Given the description of an element on the screen output the (x, y) to click on. 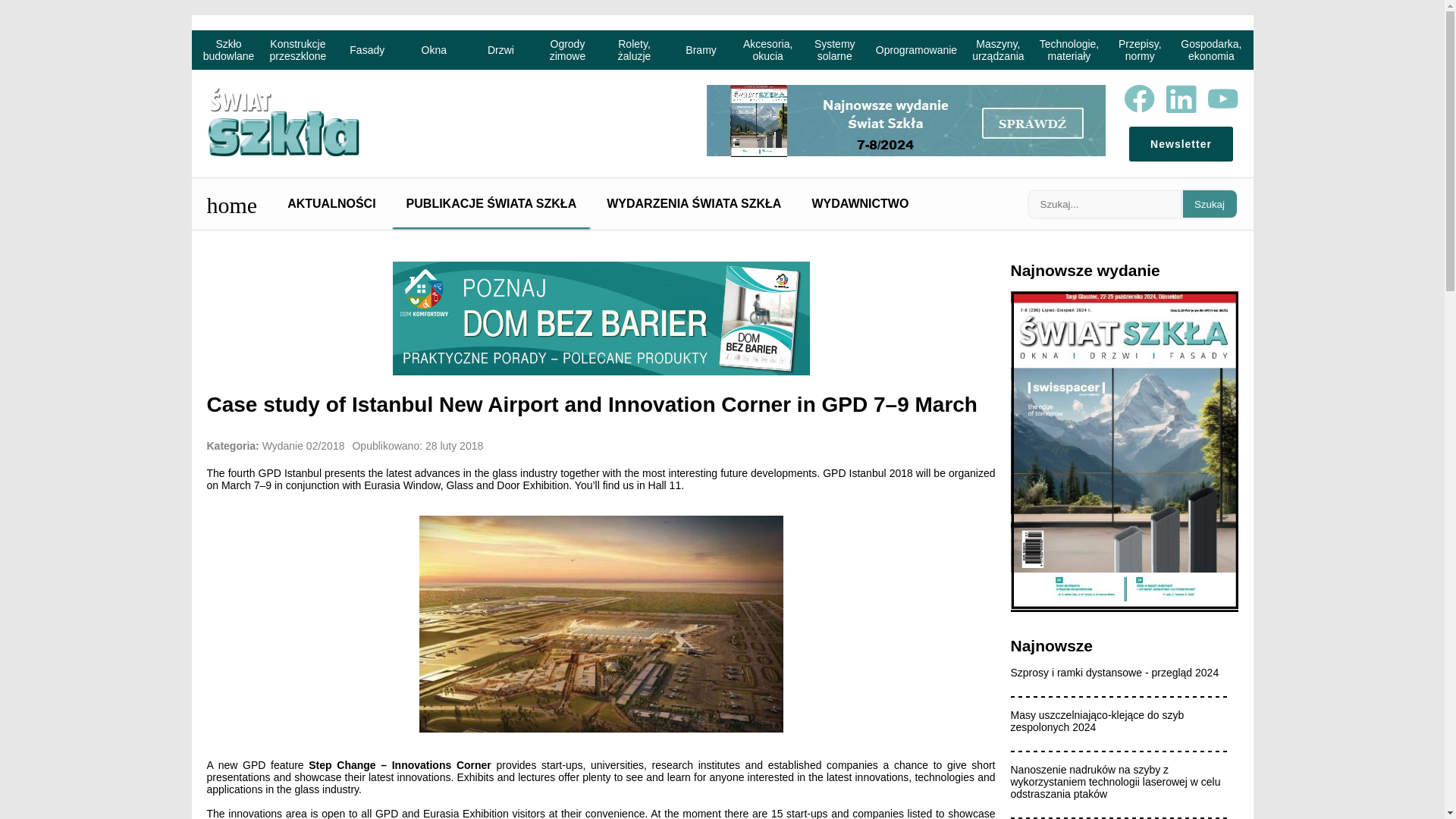
Przepisy, normy (1139, 49)
Drzwi (500, 49)
Okna (433, 49)
home (231, 203)
Konstrukcje przeszklone (298, 49)
Akcesoria, okucia (768, 49)
Oprogramowanie (915, 49)
Ogrody zimowe (566, 49)
Gospodarka, ekonomia (1211, 49)
Bramy (701, 49)
Systemy solarne (834, 49)
Szukaj (1209, 204)
Fasady (366, 49)
Najnowsze wydanie - okladka (1123, 607)
Newsletter (1180, 143)
